Given the description of an element on the screen output the (x, y) to click on. 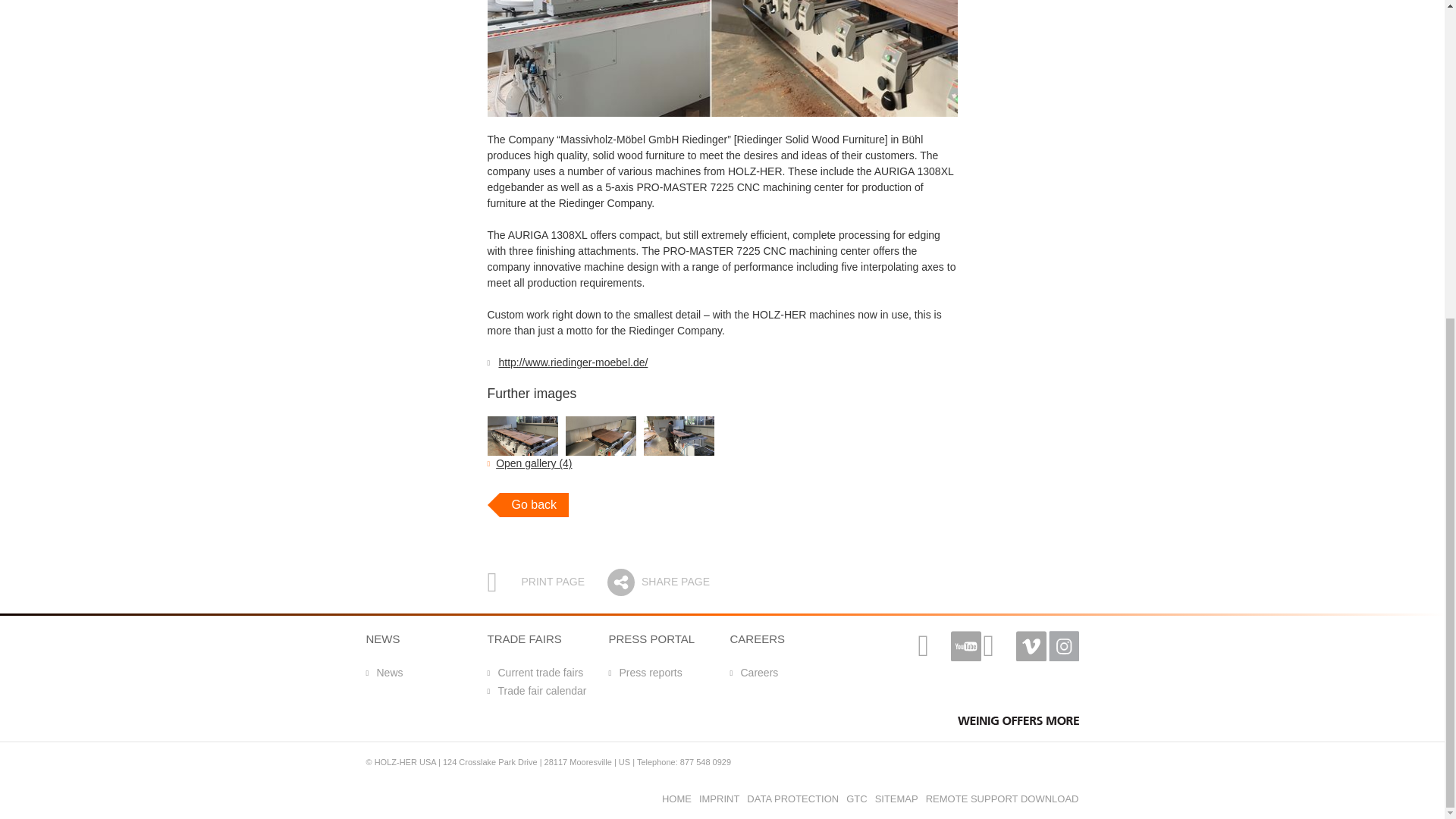
Opens external link in new window (572, 362)
Trade fair calendar (536, 691)
Current trade fairs (534, 672)
News (384, 672)
Careers (753, 672)
Press reports (644, 672)
Weinig offers more (1017, 720)
